Given the description of an element on the screen output the (x, y) to click on. 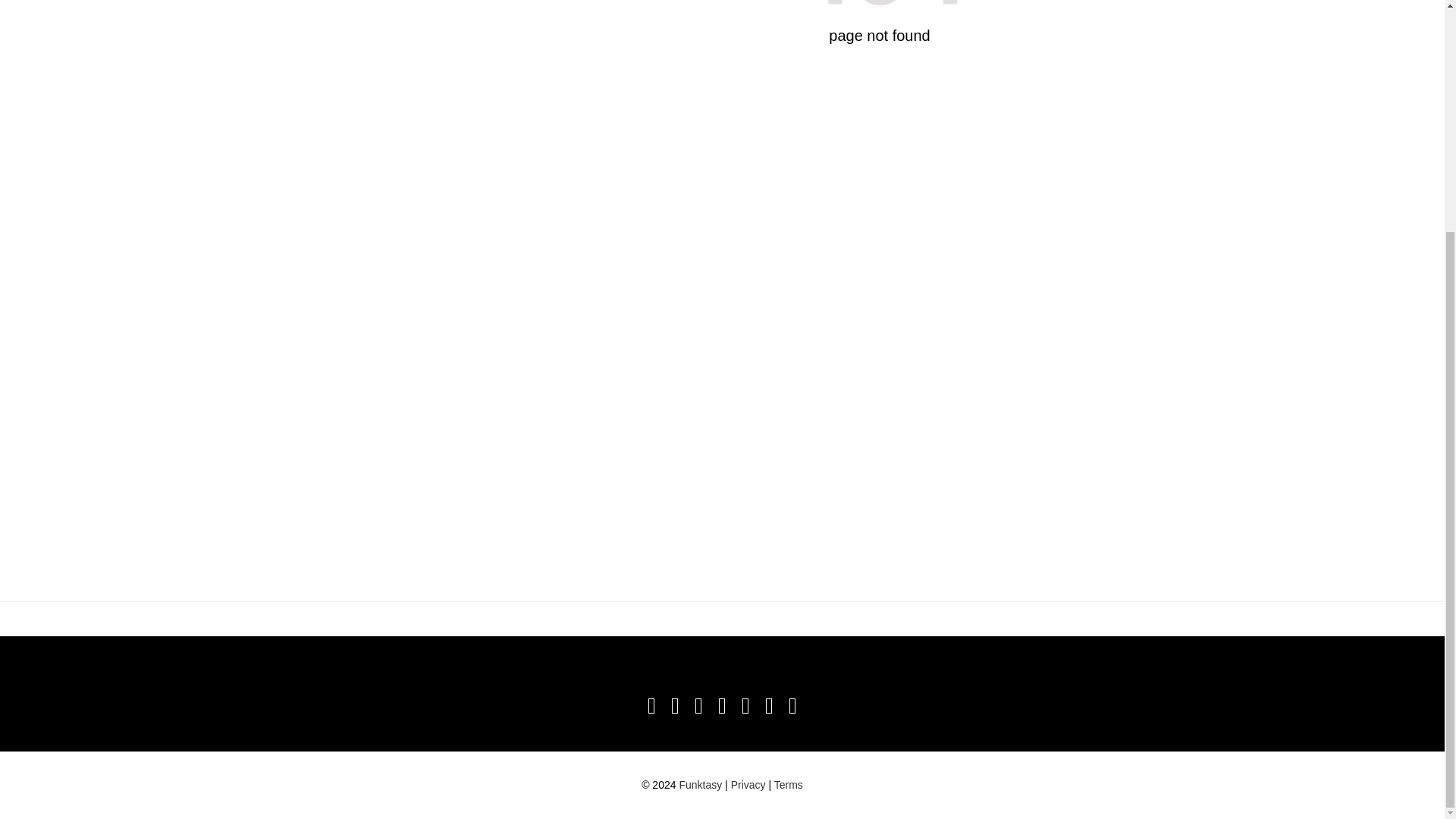
Privacy (747, 784)
Terms (788, 784)
Funktasy (699, 784)
